Given the description of an element on the screen output the (x, y) to click on. 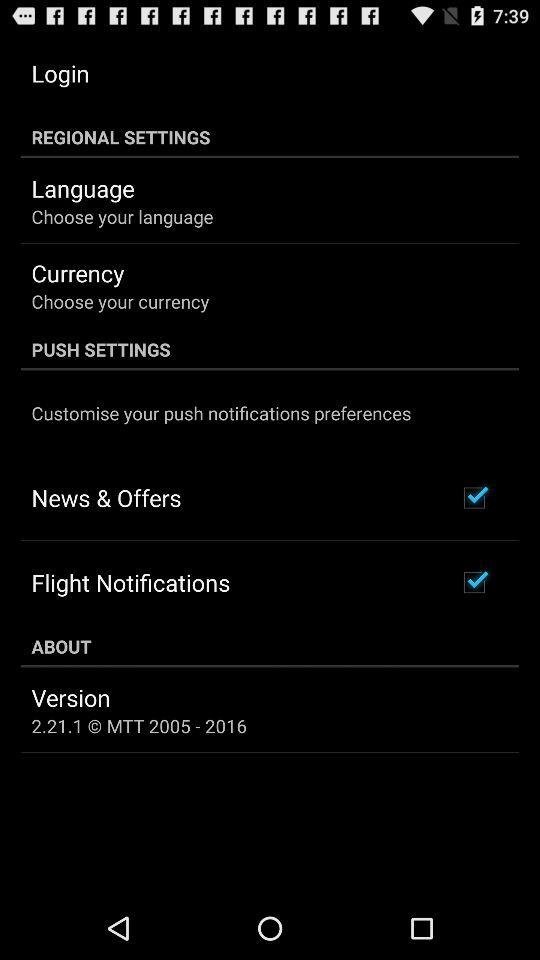
flip to the customise your push icon (221, 412)
